Given the description of an element on the screen output the (x, y) to click on. 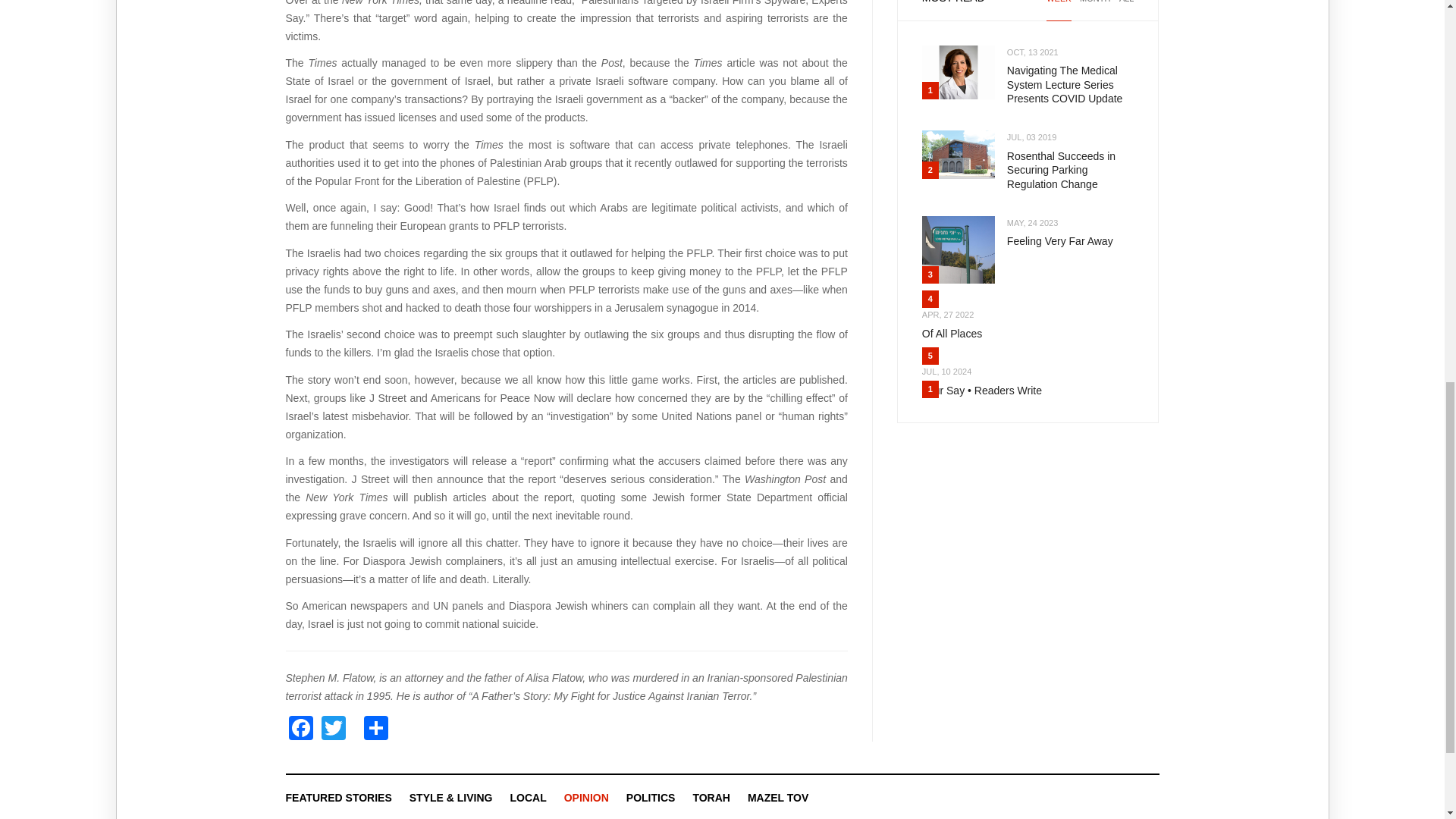
Month (1094, 10)
Week (1058, 10)
